Given the description of an element on the screen output the (x, y) to click on. 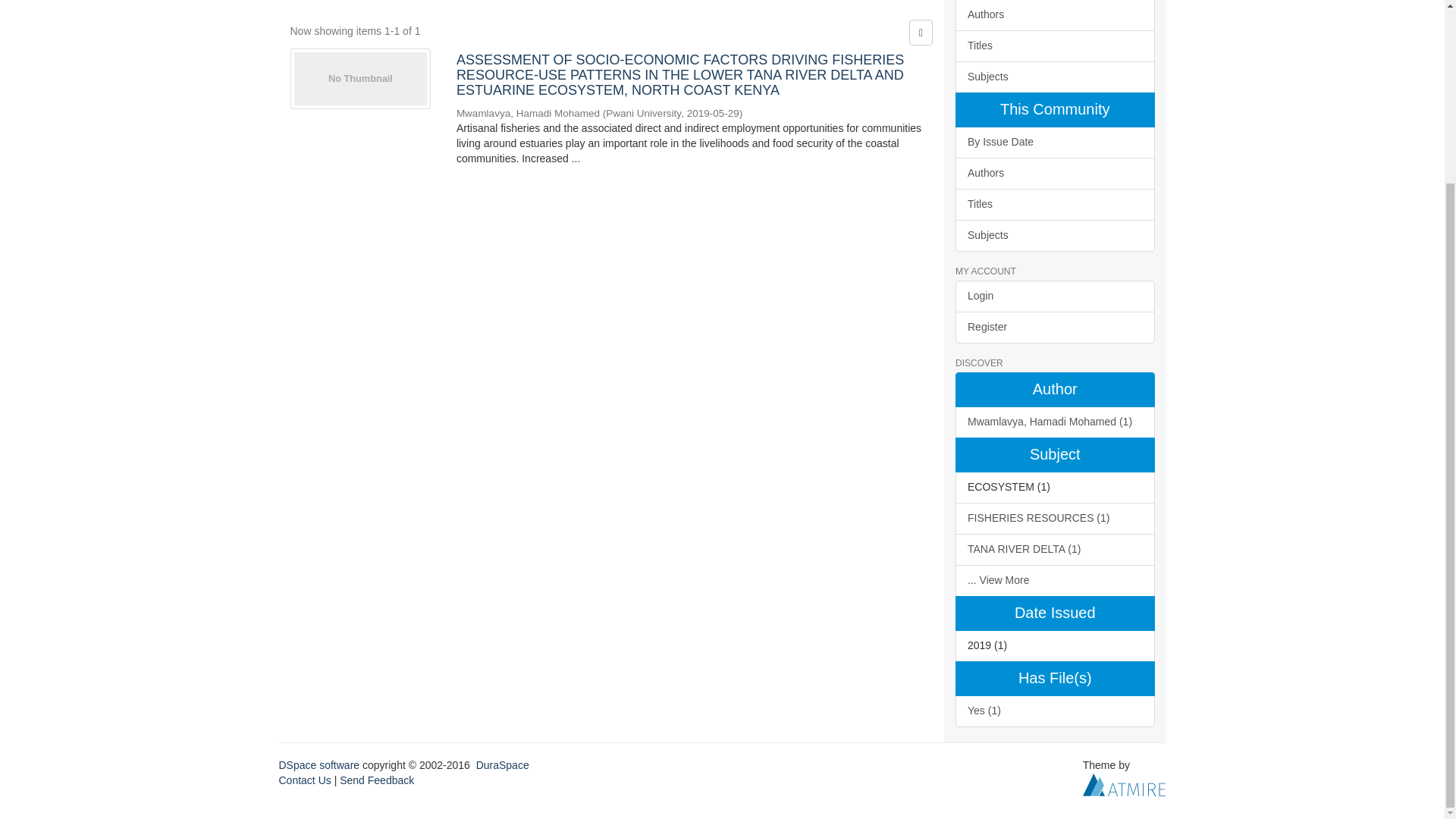
Show Advanced Filters (879, 1)
Atmire NV (1124, 784)
